Given the description of an element on the screen output the (x, y) to click on. 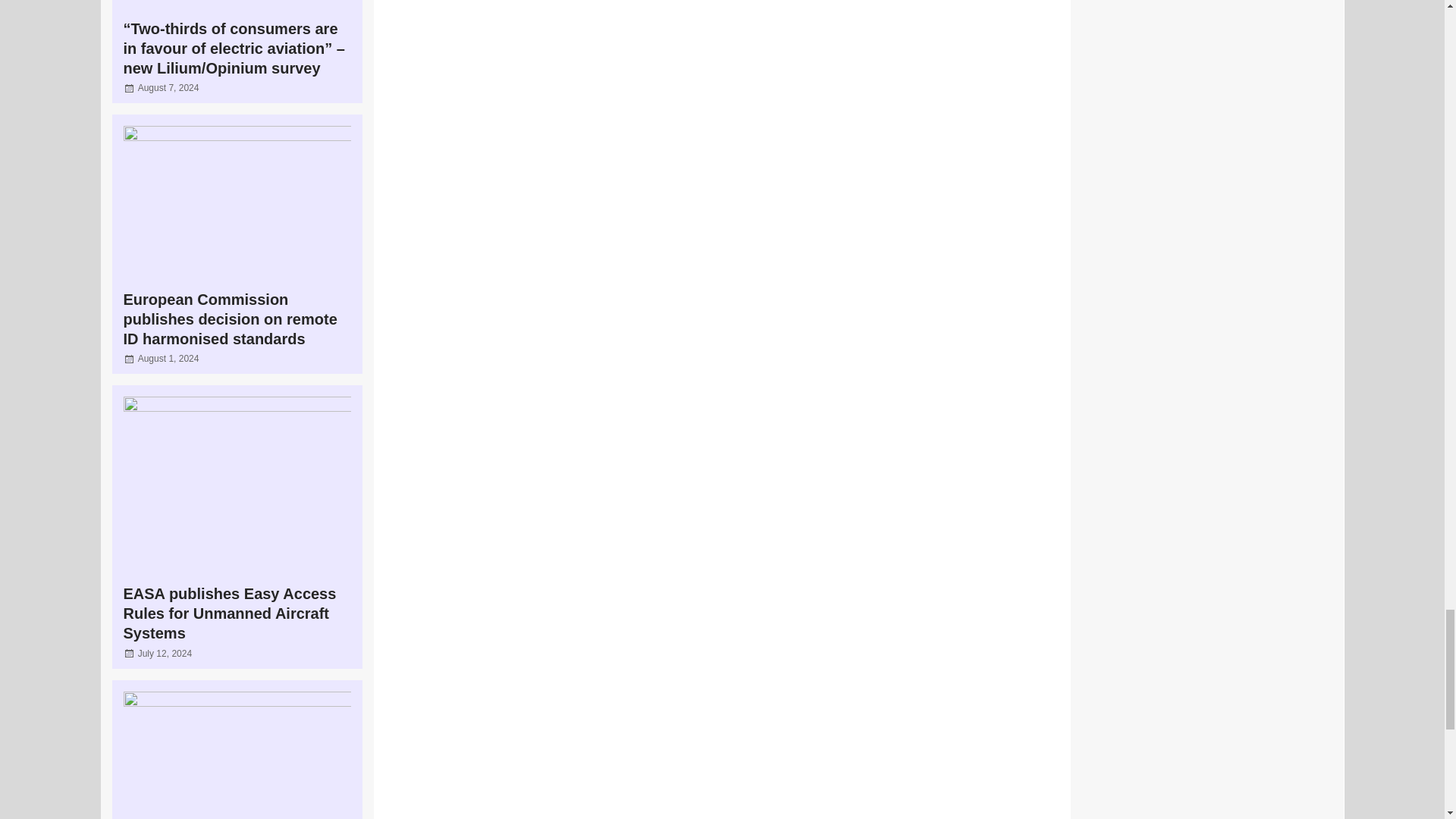
11:14 am (168, 87)
8:22 am (165, 653)
3:01 pm (168, 357)
